Given the description of an element on the screen output the (x, y) to click on. 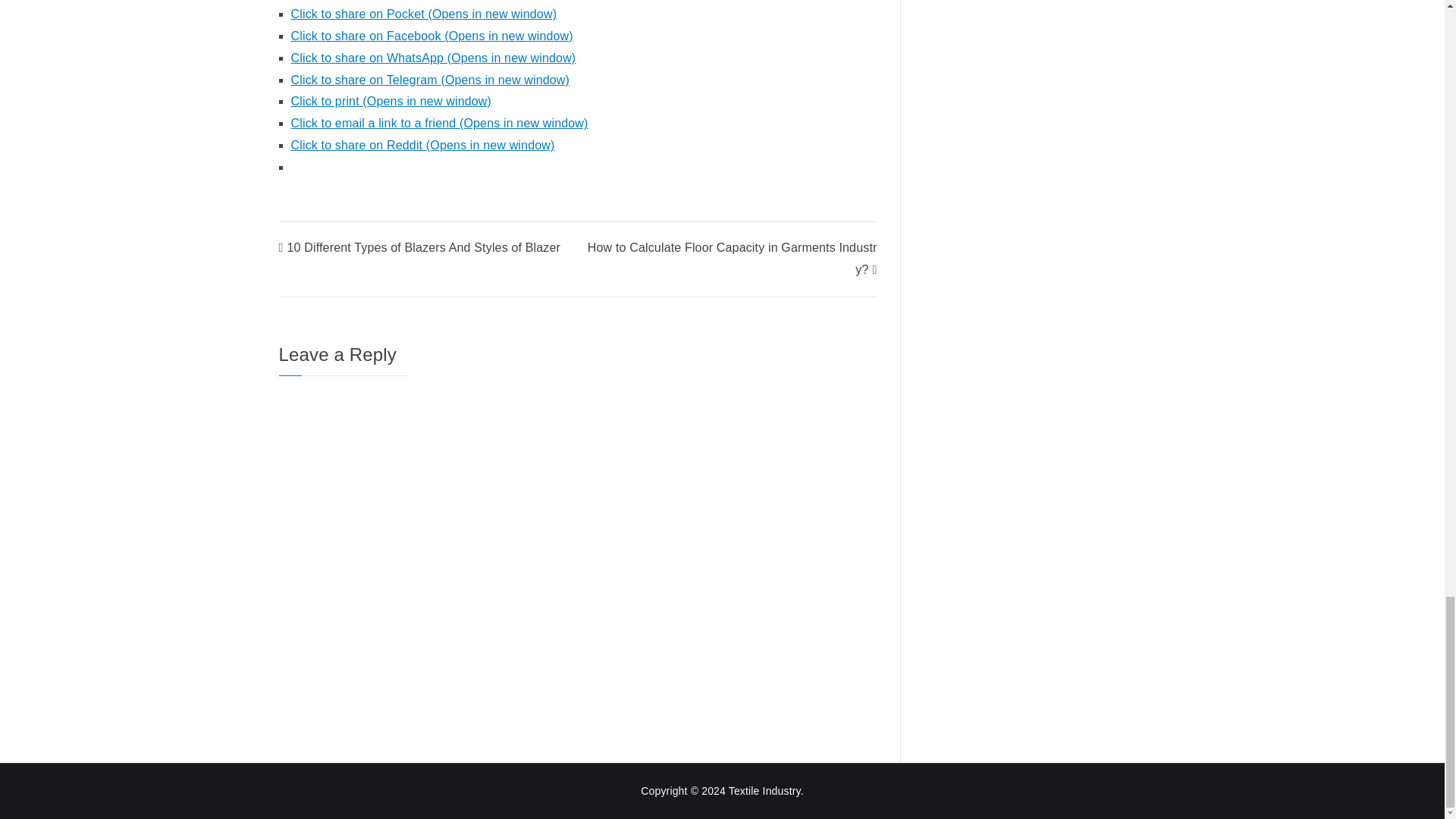
Click to print (391, 101)
Click to email a link to a friend (439, 123)
Click to share on WhatsApp (433, 57)
Click to share on Reddit (422, 144)
Click to share on Pocket (424, 13)
Click to share on Telegram (430, 79)
Click to share on Facebook (432, 35)
